Given the description of an element on the screen output the (x, y) to click on. 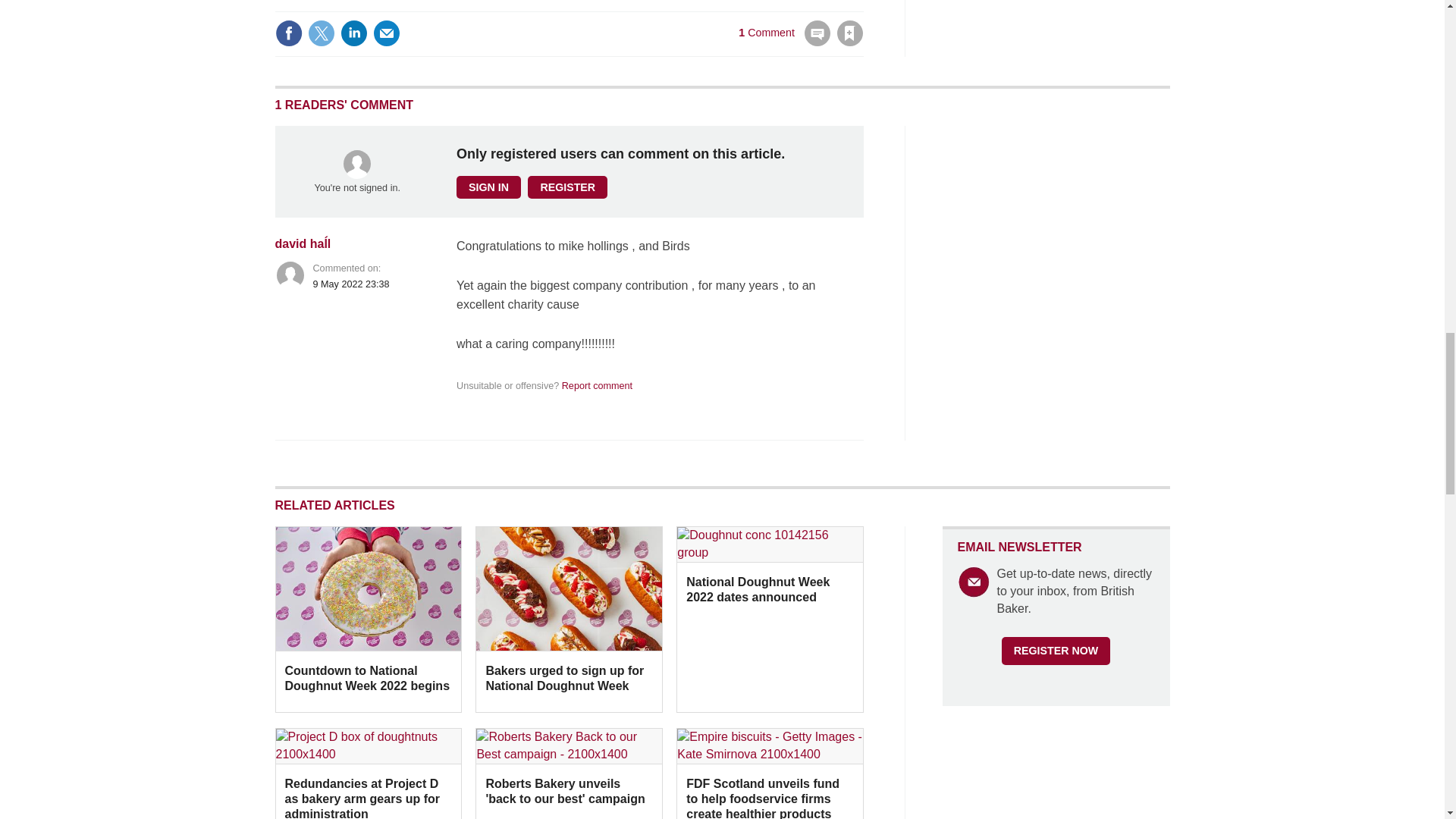
Share this on Twitter (320, 32)
Share this on Facebook (288, 32)
Share this on Linked in (352, 32)
Email this article (386, 32)
1 Comment (784, 42)
